Given the description of an element on the screen output the (x, y) to click on. 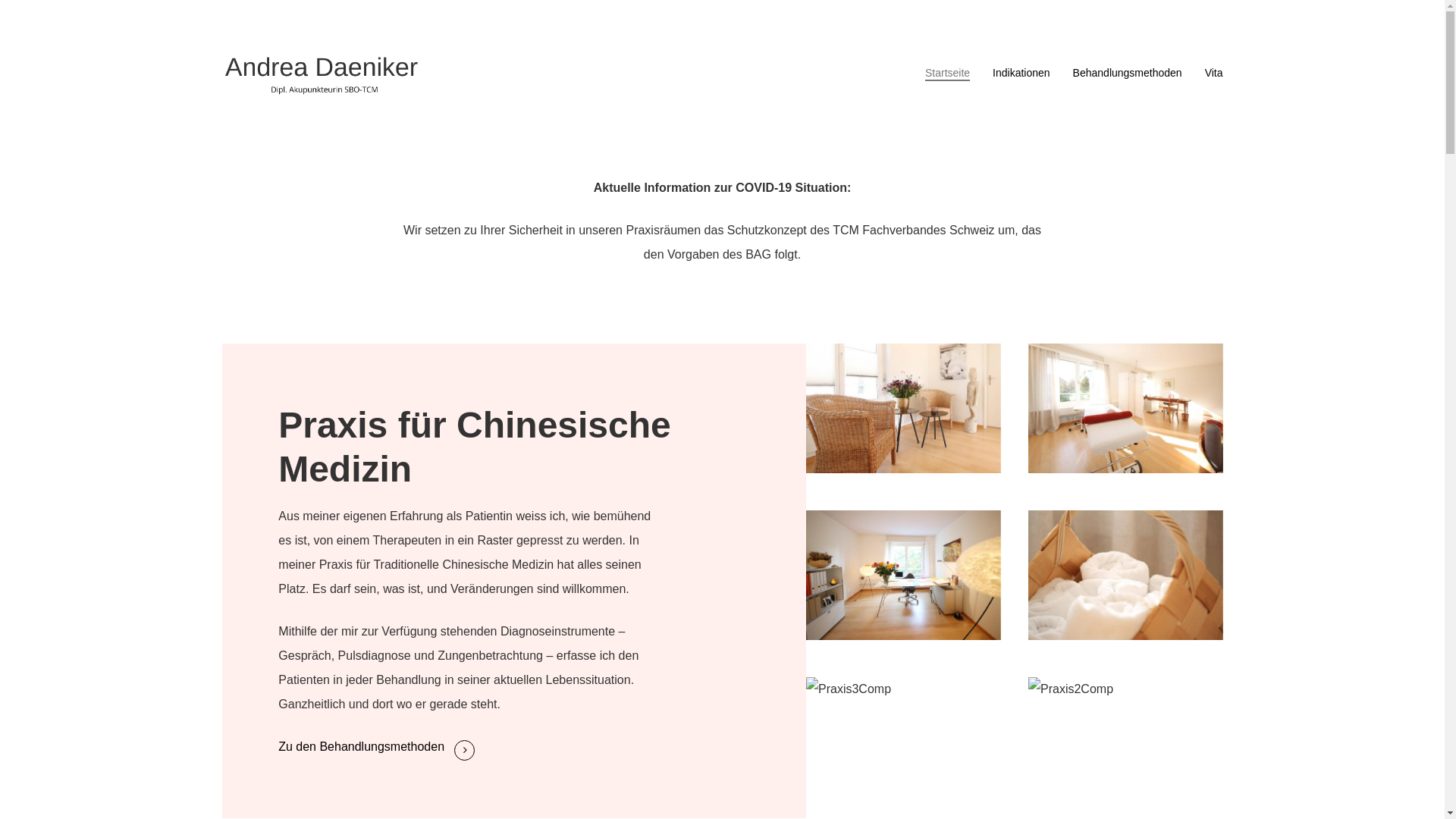
Praxis3Comp Element type: hover (903, 741)
Behandlungsmethoden Element type: text (1127, 72)
Praxis1Comp Element type: hover (1125, 408)
Praxis5Comp Element type: hover (903, 575)
Praxis2Comp Element type: hover (1125, 741)
Startseite Element type: text (623, 710)
Impressum Element type: text (739, 710)
Praxis4Comp Element type: hover (1125, 575)
Kontakt Element type: text (678, 710)
Datenschutz Element type: text (813, 710)
Vita Element type: text (1213, 72)
Indikationen Element type: text (1021, 72)
Praxis6Comp Element type: hover (903, 408)
Startseite Element type: text (947, 72)
